Given the description of an element on the screen output the (x, y) to click on. 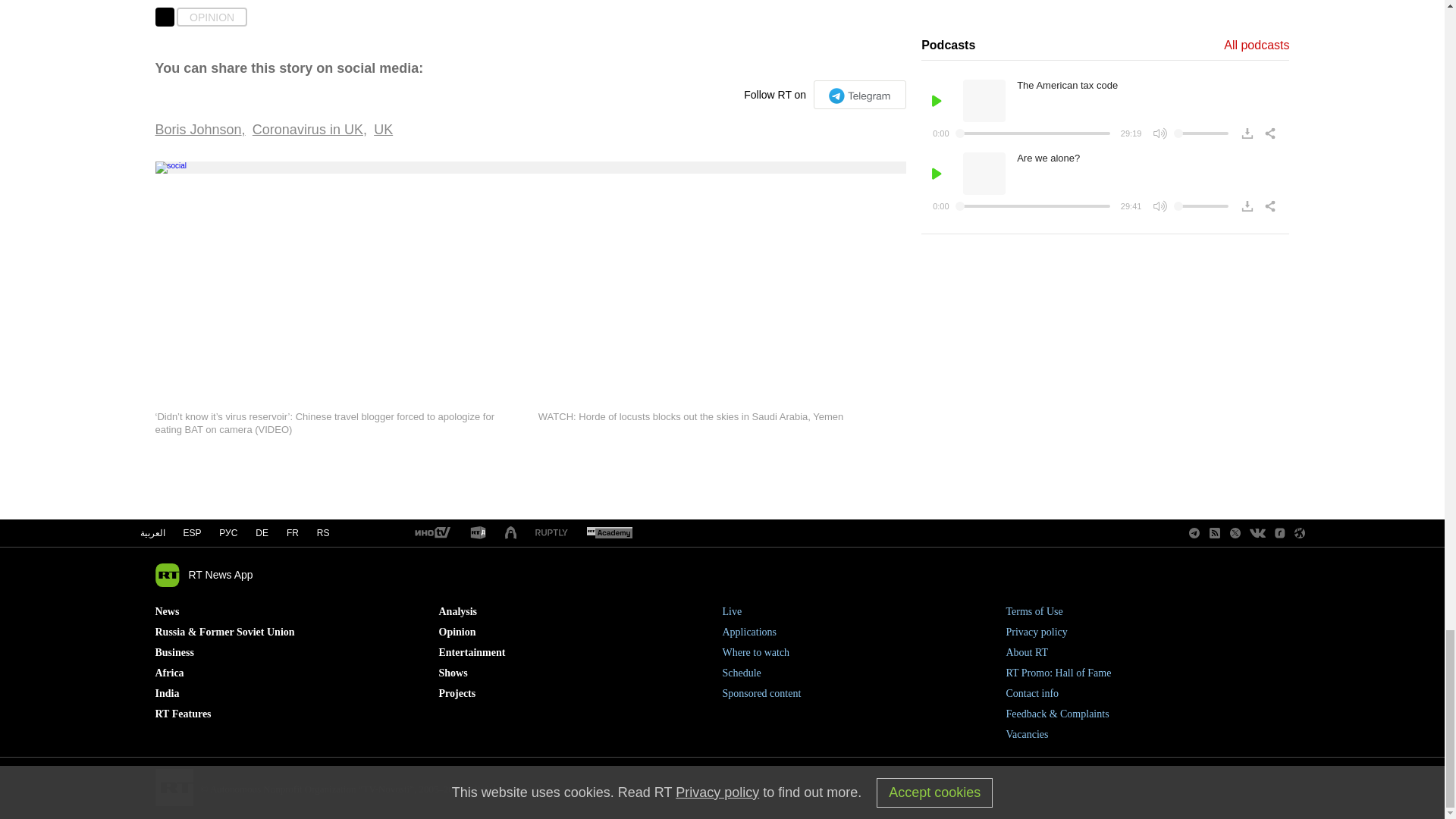
RT  (608, 533)
RT  (431, 533)
RT  (478, 533)
RT  (551, 533)
